Given the description of an element on the screen output the (x, y) to click on. 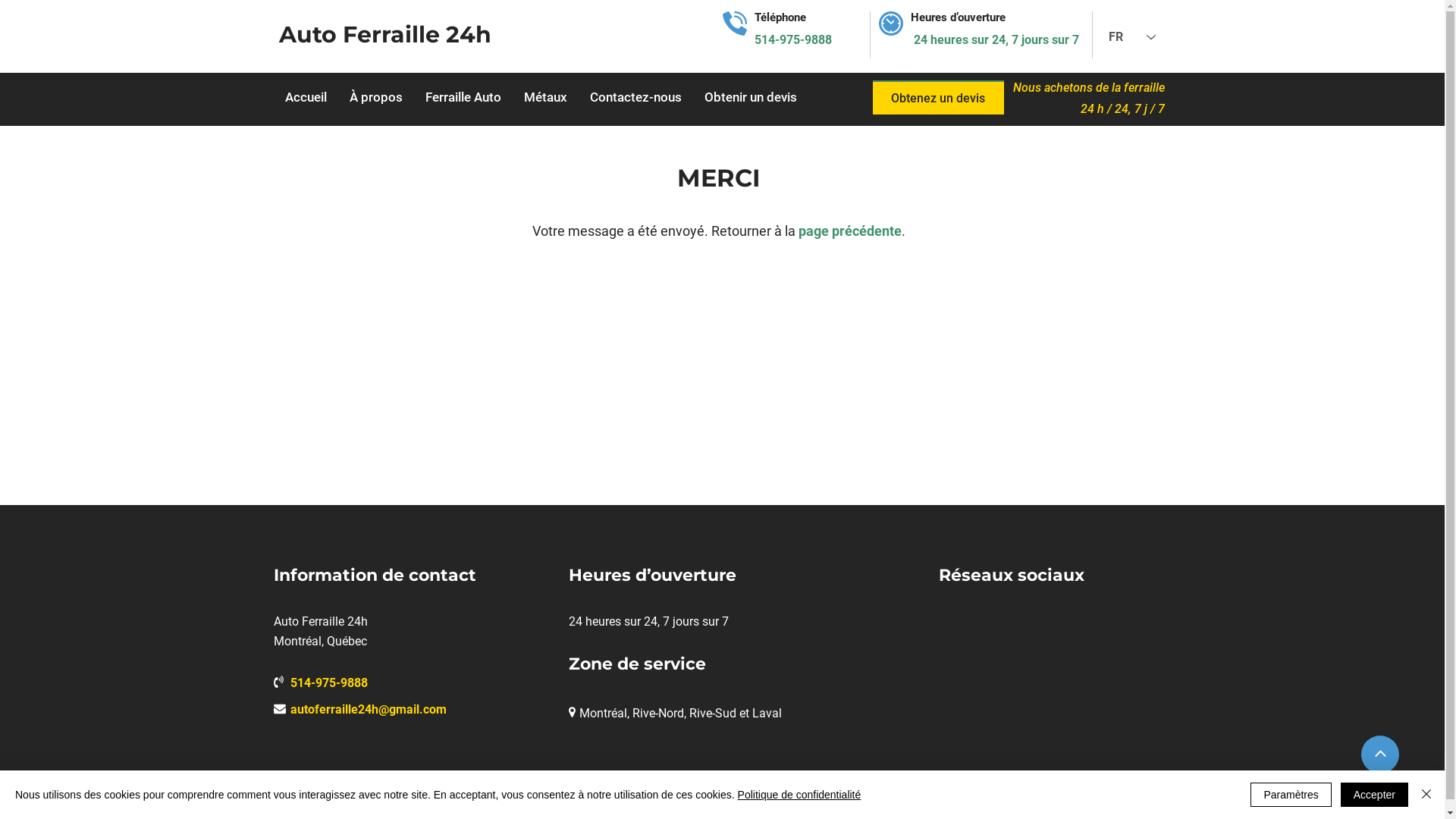
514-975-9888 Element type: text (792, 41)
Obtenez un devis Element type: text (937, 97)
autoferraille24h@gmail.com Element type: text (367, 710)
Embedded Content Element type: hover (978, 629)
Contactez-nous Element type: text (634, 97)
Ferraille Auto Element type: text (463, 97)
Accepter Element type: text (1374, 794)
Auto Ferraille 24h Element type: text (385, 39)
Embedded Content Element type: hover (972, 651)
514-975-9888 Element type: text (328, 684)
Obtenir un devis Element type: text (750, 97)
Accueil Element type: text (305, 97)
Auto Ferraille 24h Element type: text (400, 801)
